Given the description of an element on the screen output the (x, y) to click on. 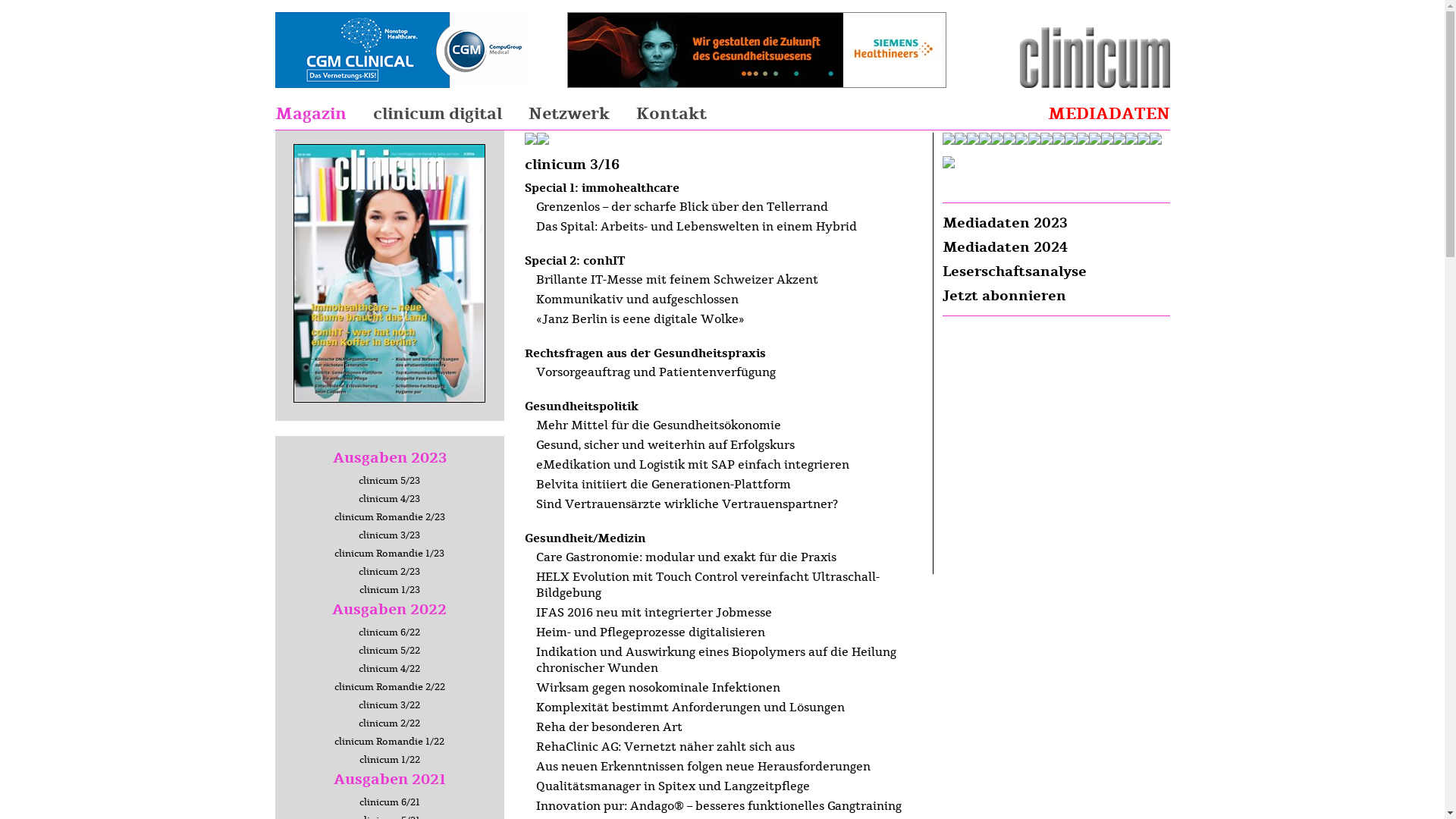
Jetzt abonnieren Element type: text (1003, 295)
Aus neuen Erkenntnissen folgen neue Herausforderungen Element type: text (702, 766)
clinicum 3/16 Element type: hover (389, 273)
clinicum 3/22 Element type: text (389, 704)
Reha der besonderen Art Element type: text (608, 727)
clinicum 3/16 Element type: text (389, 407)
Brillante IT-Messe mit feinem Schweizer Akzent Element type: text (676, 279)
Gesund, sicher und weiterhin auf Erfolgskurs Element type: text (664, 444)
clinicum 1/23 Element type: text (389, 589)
clinicum Romandie 2/23 Element type: text (388, 516)
clinicum Romandie 1/22 Element type: text (389, 741)
clinicum digital Element type: text (437, 113)
Mediadaten 2023 Element type: text (1003, 222)
clinicum 4/23 Element type: text (389, 498)
Heim- und Pflegeprozesse digitalisieren Element type: text (649, 632)
Wirksam gegen nosokominale Infektionen Element type: text (657, 687)
clinicum 5/22 Element type: text (389, 650)
MEDIADATEN Element type: text (1109, 113)
Das Spital: Arbeits- und Lebenswelten in einem Hybrid Element type: text (695, 226)
clinicum 1/22 Element type: text (389, 759)
IFAS 2016 neu mit integrierter Jobmesse Element type: text (653, 612)
clinicum Romandie 2/22 Element type: text (388, 686)
clinicum 4/22 Element type: text (389, 668)
Leserschaftsanalyse Element type: text (1013, 271)
clinicum 2/22 Element type: text (389, 723)
Mediadaten 2024 Element type: text (1003, 246)
clinicum 5/23 Element type: text (389, 480)
clinicum 2/23 Element type: text (389, 571)
clinicum Romandie 1/23 Element type: text (389, 553)
Belvita initiiert die Generationen-Plattform Element type: text (662, 484)
clinicum 6/22 Element type: text (389, 632)
eMedikation und Logistik mit SAP einfach integrieren Element type: text (691, 464)
Kontakt Element type: text (670, 113)
Kommunikativ und aufgeschlossen Element type: text (636, 299)
clinicum 3/23 Element type: text (389, 535)
clinicum 6/21 Element type: text (389, 802)
Netzwerk Element type: text (567, 113)
